Given the description of an element on the screen output the (x, y) to click on. 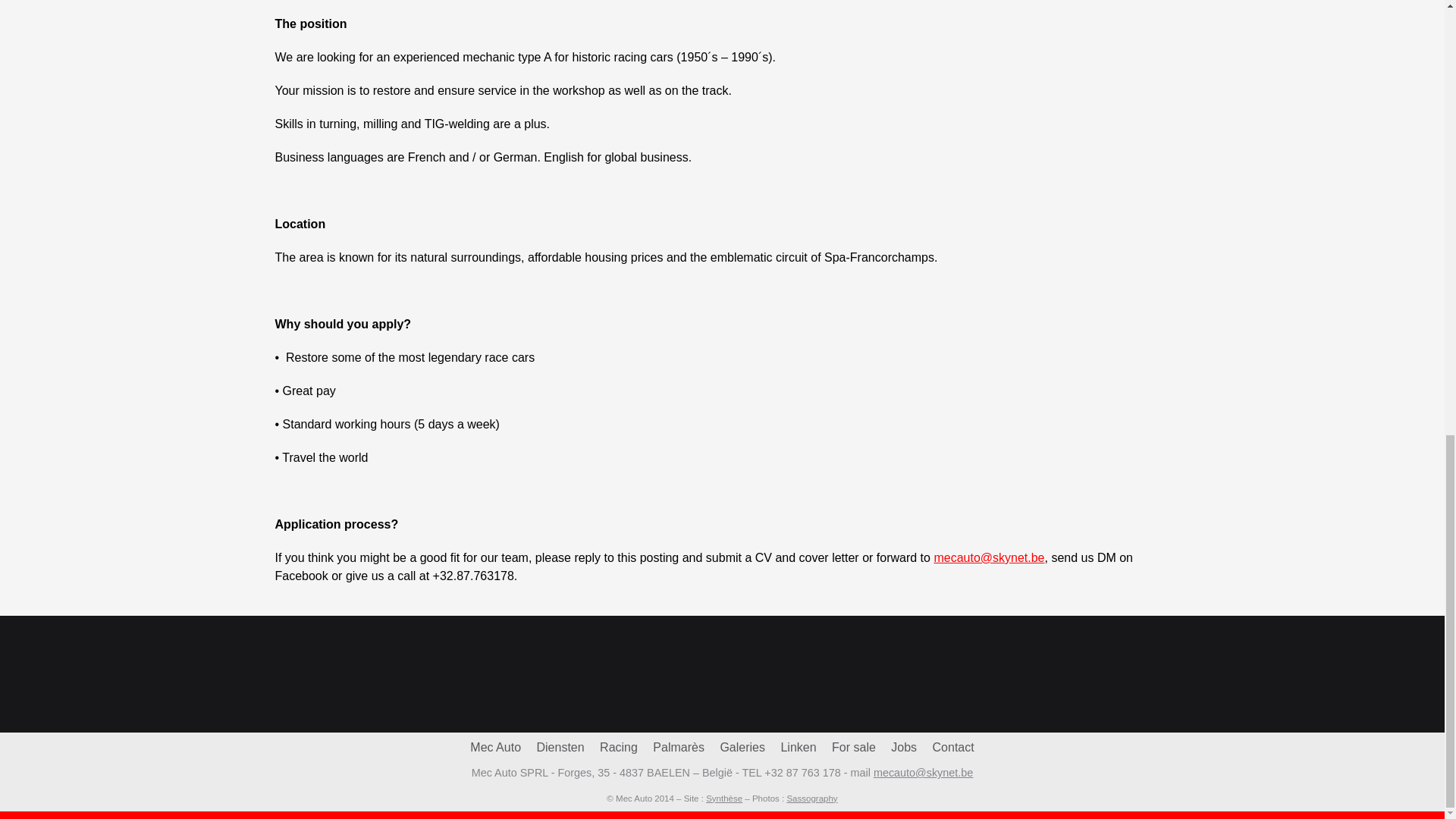
For sale (853, 747)
Jobs (904, 747)
Racing (618, 747)
Galeries (742, 747)
Linken (797, 747)
Contact (953, 747)
Mec Auto (495, 747)
Sassography (811, 798)
Diensten (559, 747)
